Given the description of an element on the screen output the (x, y) to click on. 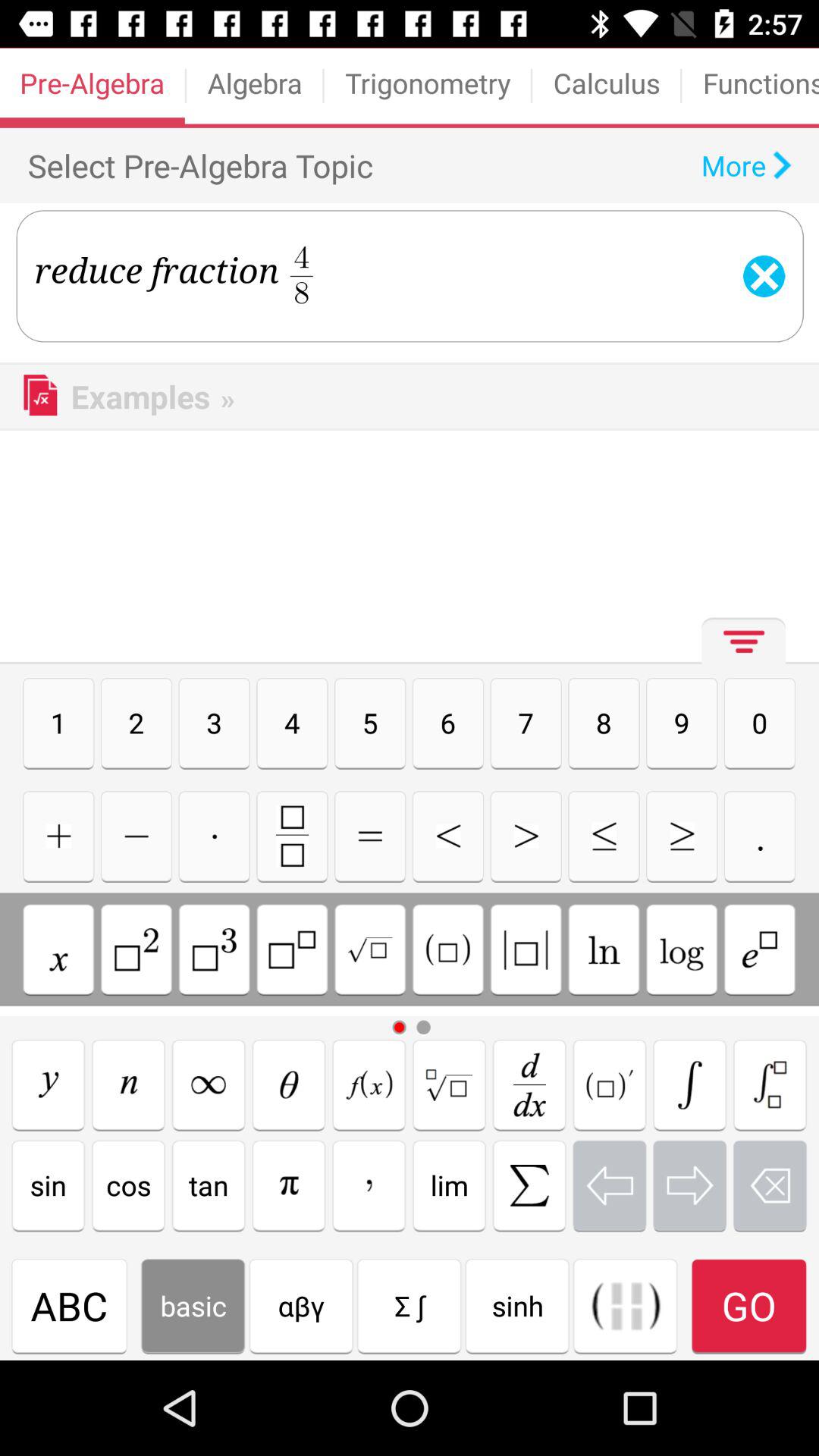
x 's out of font text options (769, 1185)
